Given the description of an element on the screen output the (x, y) to click on. 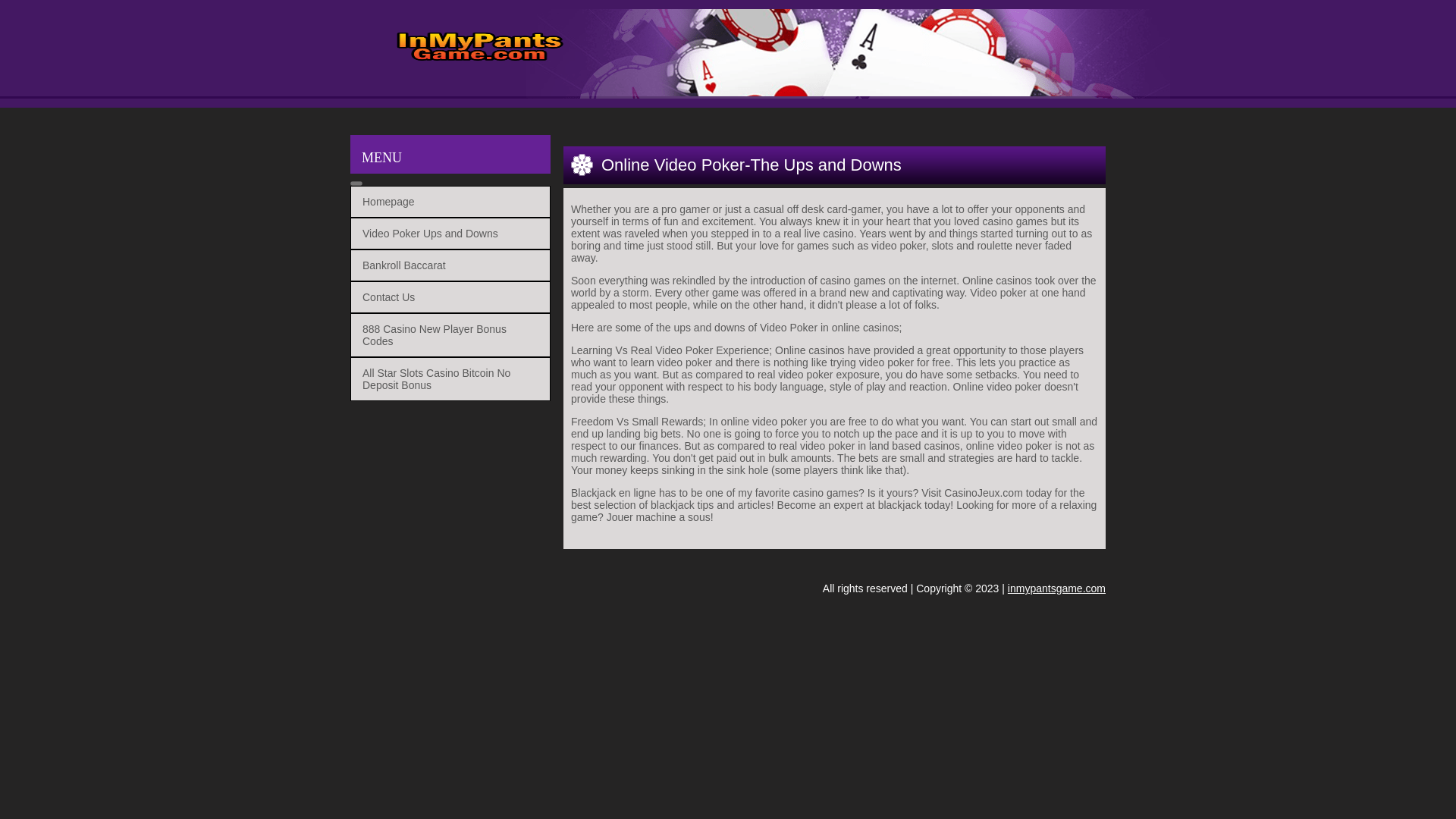
All Star Slots Casino Bitcoin No Deposit Bonus (436, 378)
Contact Us (388, 297)
Bankroll Baccarat (403, 265)
Homepage (388, 201)
888 Casino New Player Bonus Codes (434, 334)
inmypantsgame.com (1056, 588)
Video Poker Ups and Downs (429, 233)
